Given the description of an element on the screen output the (x, y) to click on. 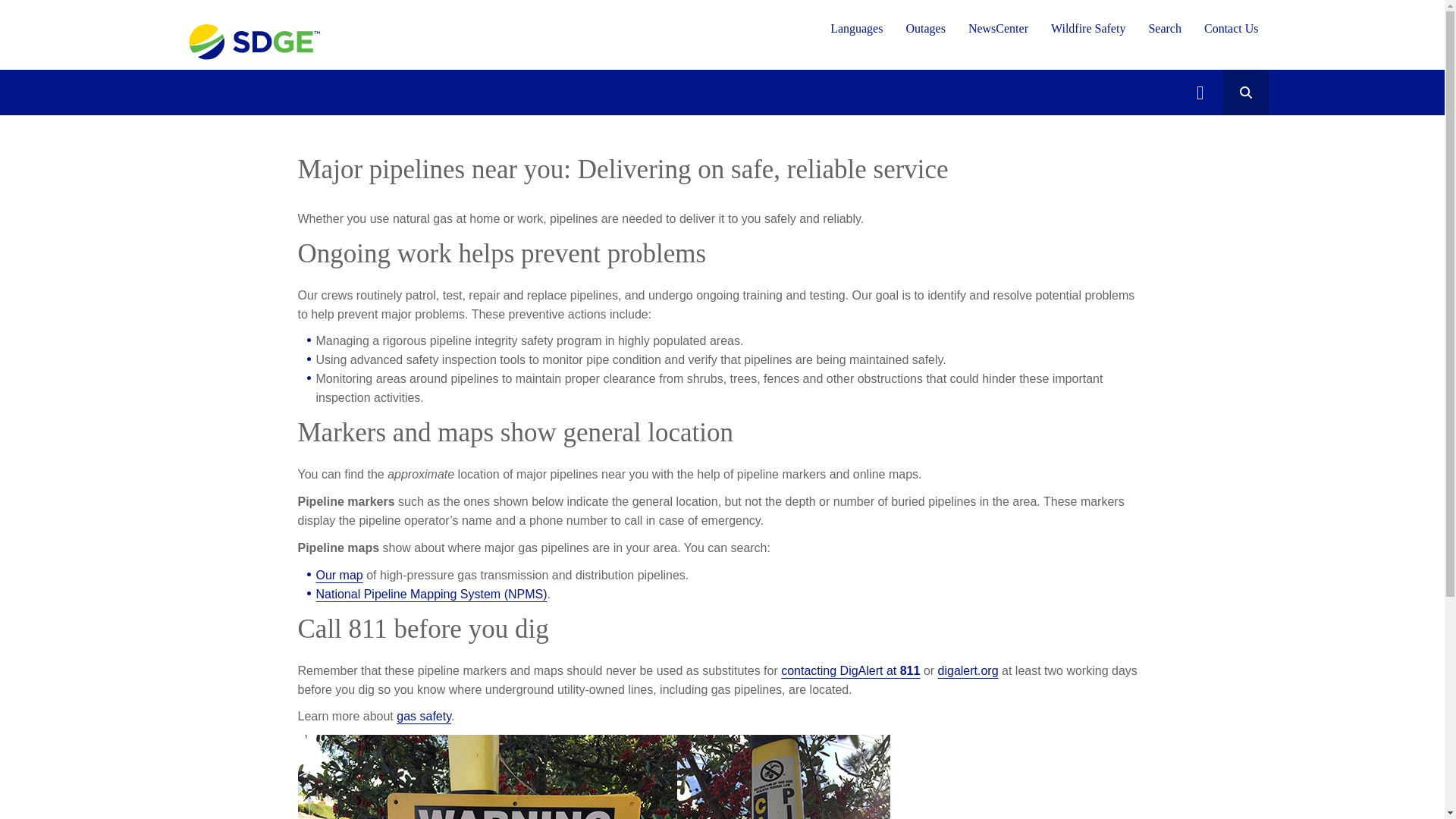
Search (1245, 92)
Notifications (1199, 92)
Contact Us (1231, 28)
Wildfire Safety (1087, 28)
NewsCenter (998, 28)
Search (1164, 28)
Home (253, 40)
Outages (924, 28)
Languages (856, 28)
